Given the description of an element on the screen output the (x, y) to click on. 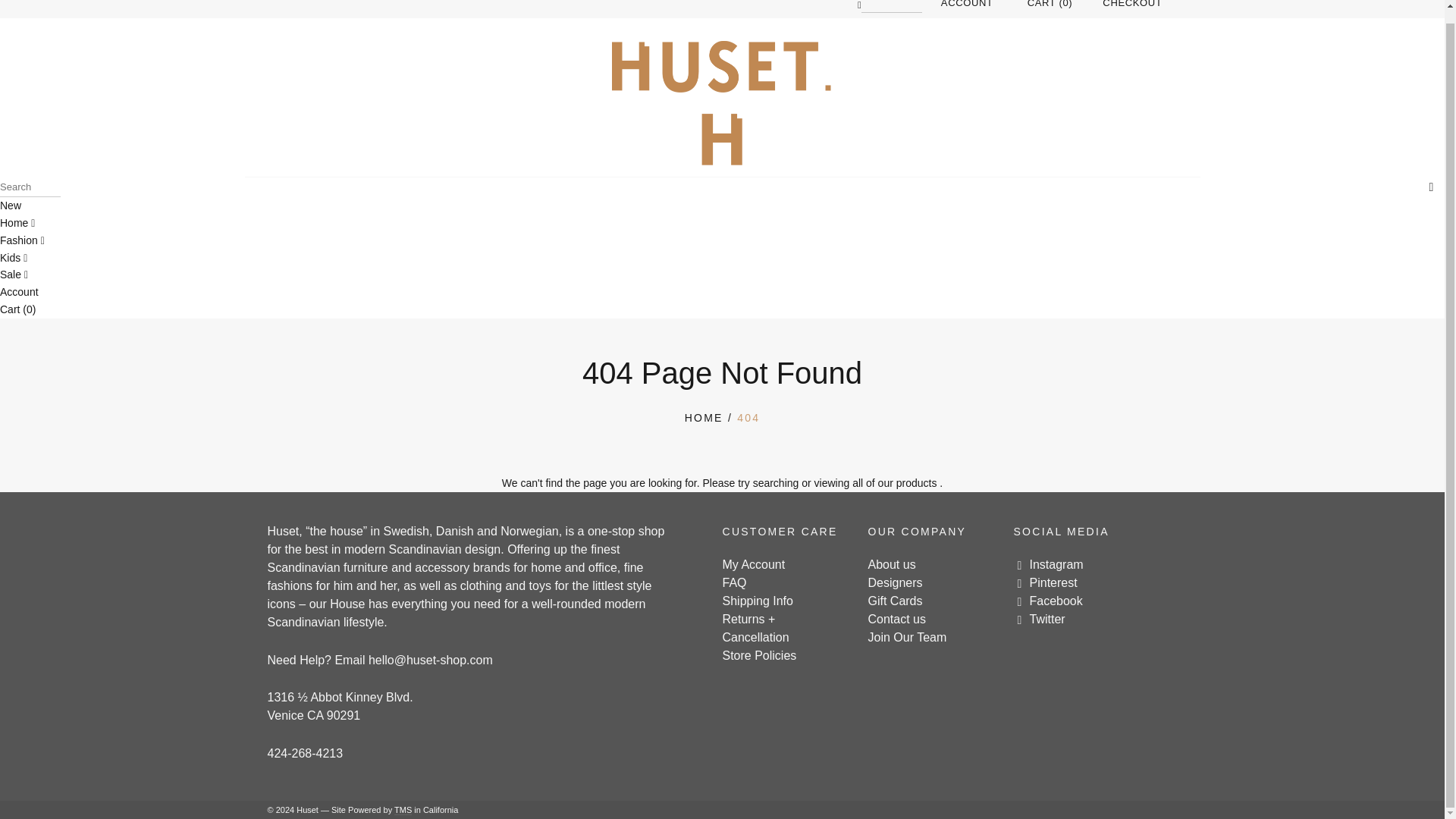
CHECKOUT (1131, 9)
ACCOUNT (966, 4)
New (10, 205)
